Given the description of an element on the screen output the (x, y) to click on. 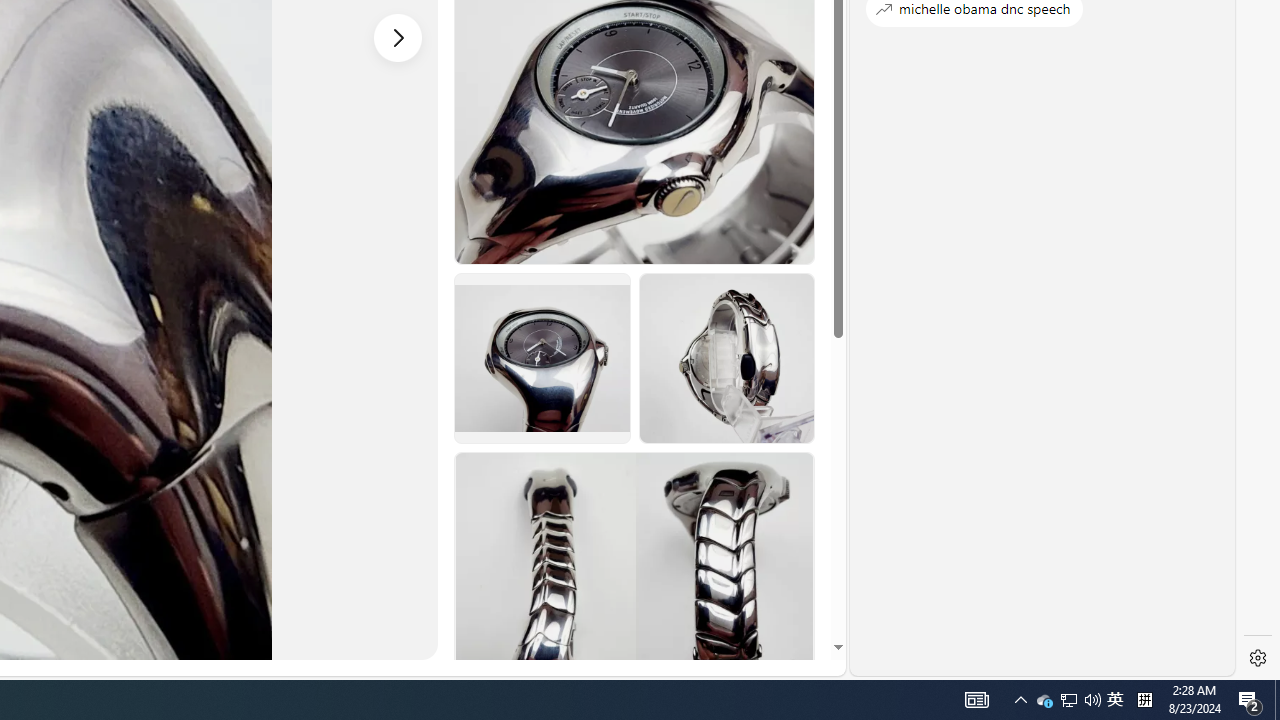
Next image - Item images thumbnails (397, 37)
